Given the description of an element on the screen output the (x, y) to click on. 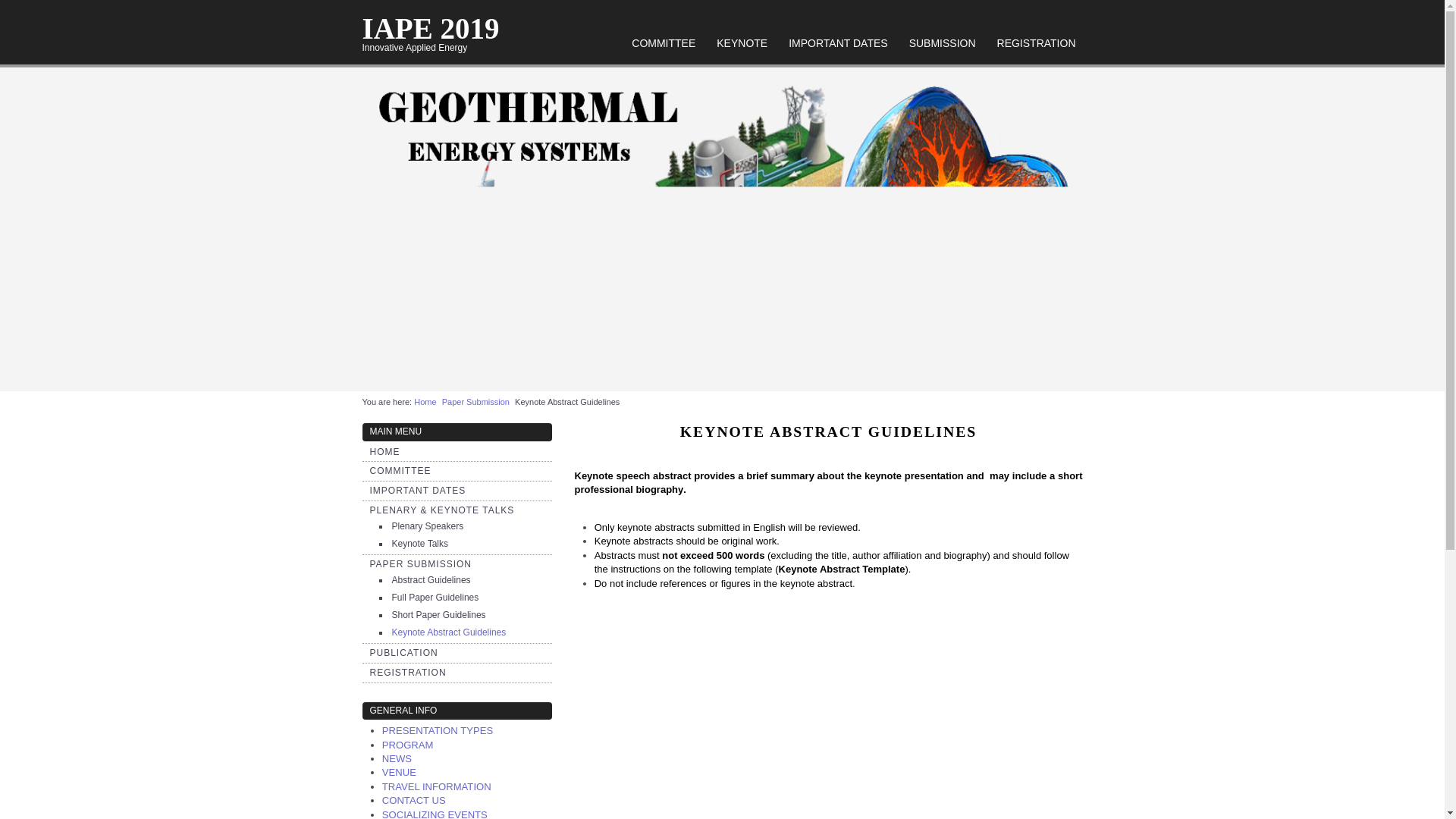
Abstract Guidelines (430, 579)
REGISTRATION (1036, 43)
Keynote Talks (419, 543)
Full Paper Guidelines (435, 597)
Keynote Abstract Guidelines (448, 632)
COMMITTEE (663, 43)
IAPE 2019 (430, 28)
IMPORTANT DATES (417, 490)
COMMITTEE (399, 470)
CONTACT US (413, 799)
